Given the description of an element on the screen output the (x, y) to click on. 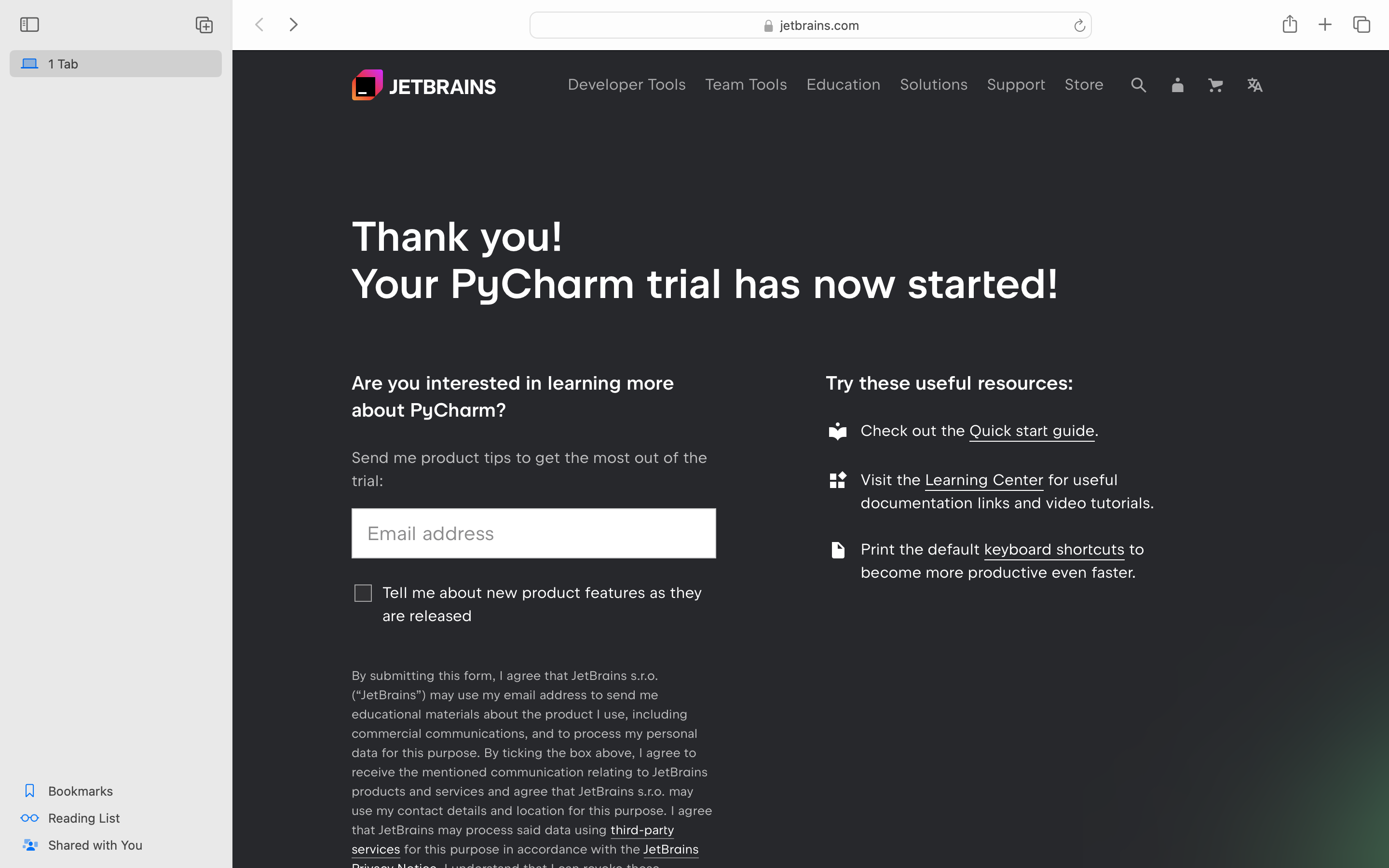
Try these useful resources: Element type: AXStaticText (949, 382)
keyboard shortcuts Element type: AXStaticText (1053, 549)
for this purpose in accordance with the Element type: AXStaticText (522, 848)
Send me product tips to get the most out of the trial: Element type: AXStaticText (529, 468)
